Given the description of an element on the screen output the (x, y) to click on. 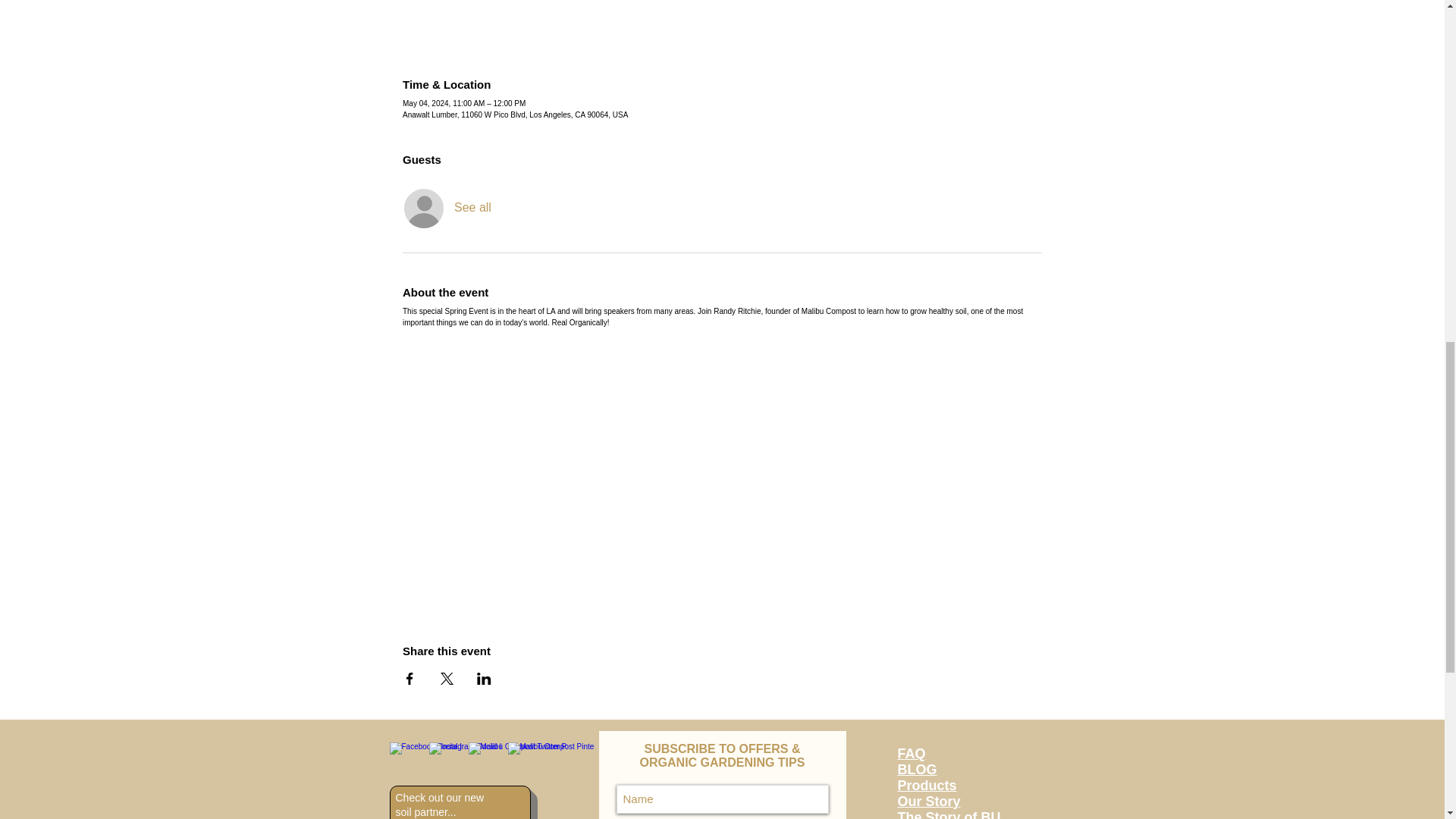
Our Story (929, 801)
The Story of BU (949, 814)
FAQ (912, 753)
See all (473, 207)
Products (927, 785)
BLOG (917, 769)
